Given the description of an element on the screen output the (x, y) to click on. 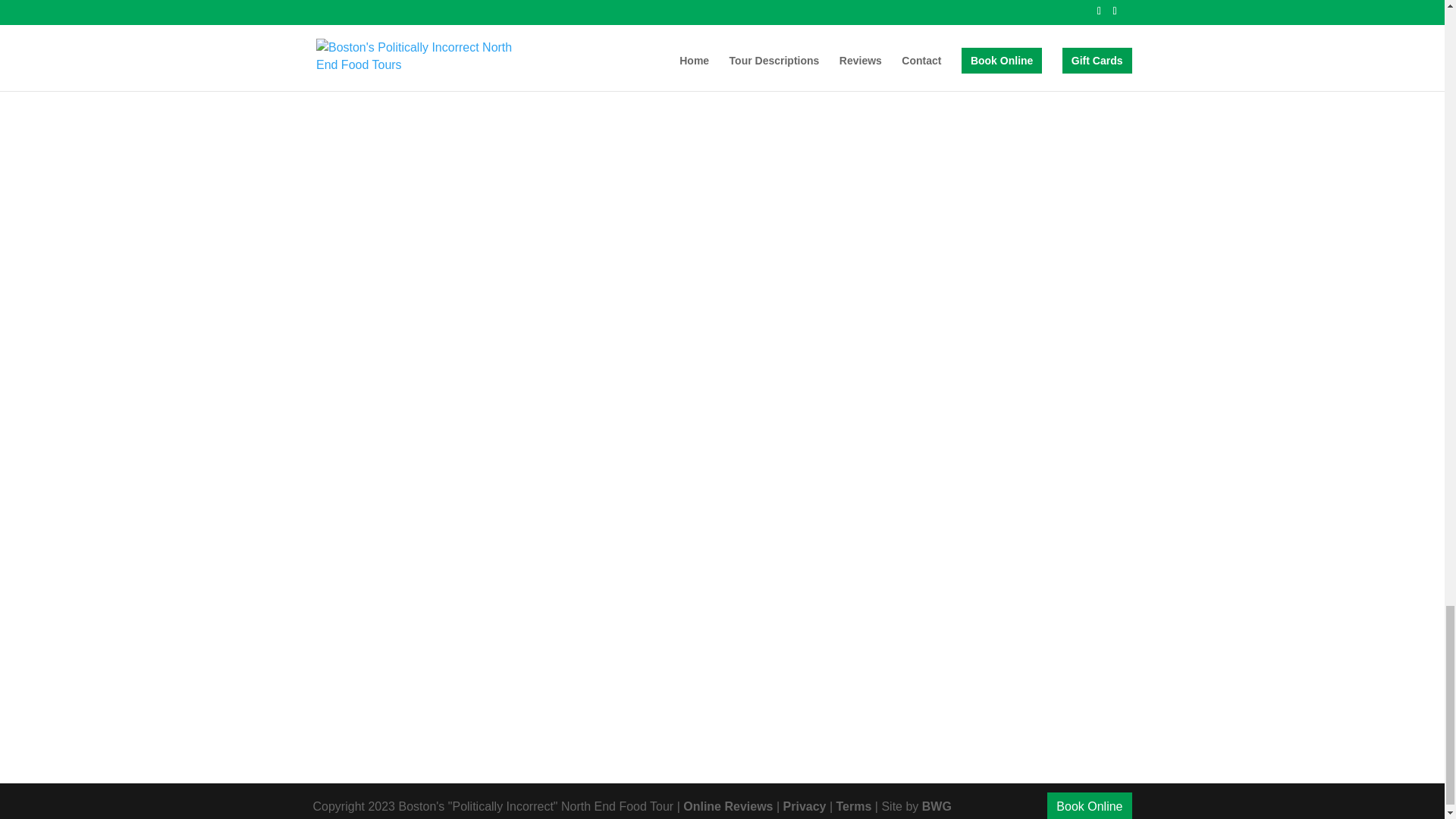
Book Online (1088, 805)
Terms (853, 806)
Boston Web Design (936, 806)
Privacy (805, 806)
BWG (936, 806)
Online Reviews (727, 806)
